Given the description of an element on the screen output the (x, y) to click on. 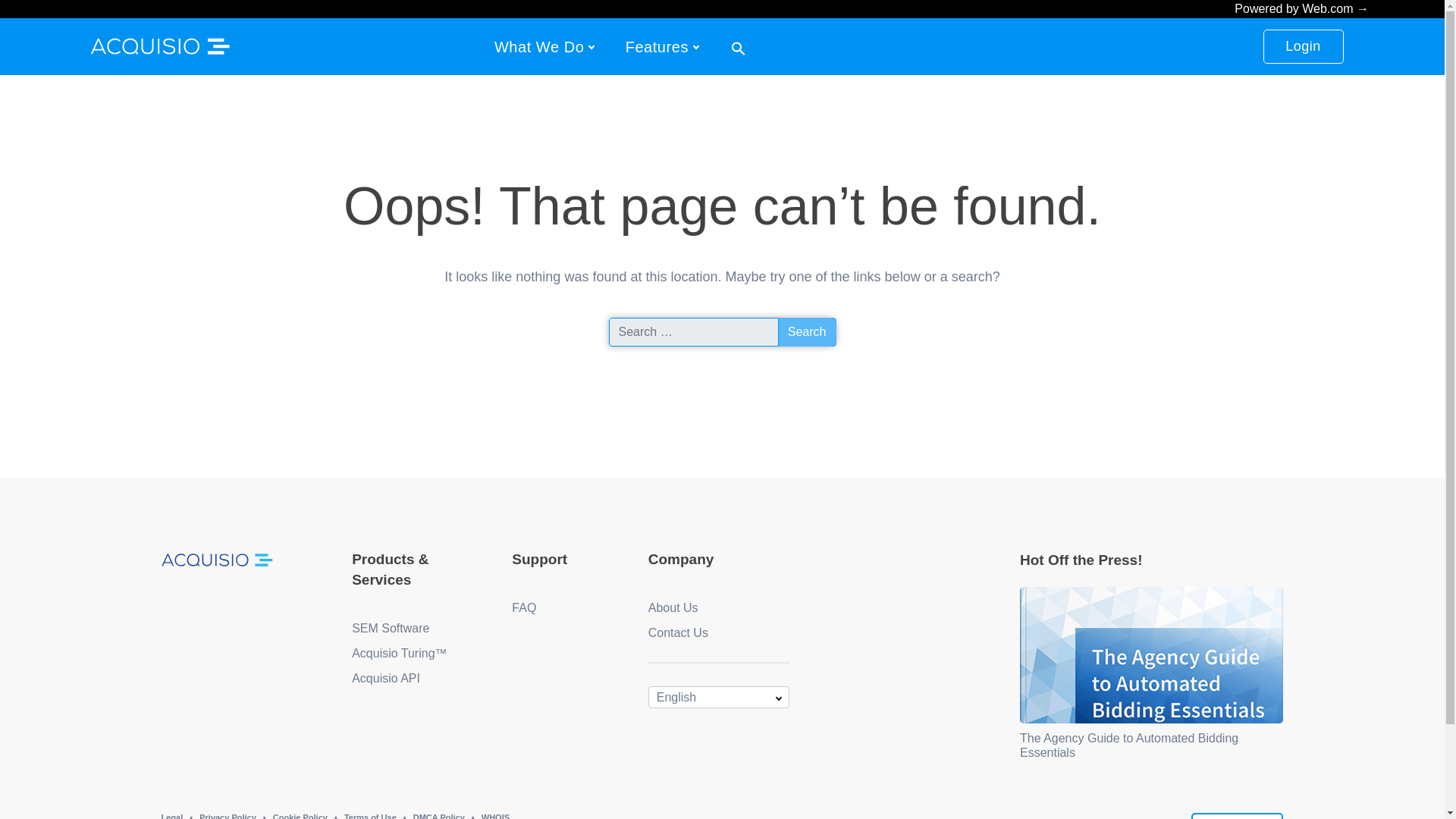
The Agency Guide to Automated Bidding Essentials (1129, 744)
Search (806, 331)
Company (680, 559)
FAQ (523, 607)
Features (657, 45)
Privacy Policy (227, 816)
Search (806, 331)
Legal (171, 816)
Features (657, 45)
Acquisio API (386, 677)
SEM Software (390, 627)
Contact Us (1237, 816)
Terms of Use (369, 816)
Login (1303, 46)
DMCA Policy (438, 816)
